Given the description of an element on the screen output the (x, y) to click on. 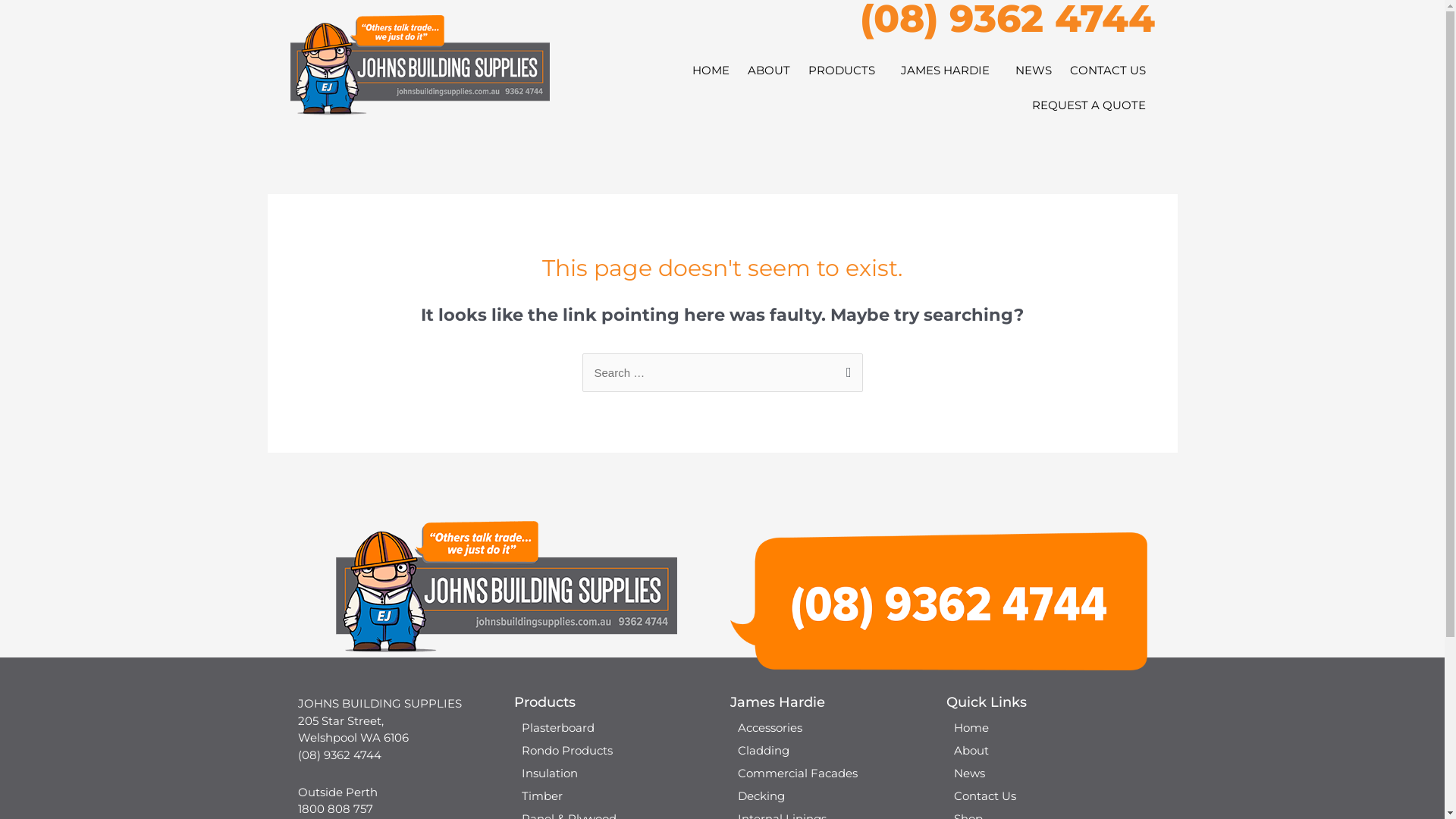
ABOUT Element type: text (768, 70)
Search Element type: text (845, 368)
Decking Element type: text (829, 795)
Cladding Element type: text (829, 750)
Plasterboard Element type: text (614, 727)
(08) 9362 4744 Element type: text (338, 754)
Home Element type: text (1046, 727)
Contact Us Element type: text (1046, 795)
HOME Element type: text (709, 70)
REQUEST A QUOTE Element type: text (1088, 104)
PRODUCTS Element type: text (845, 70)
Commercial Facades Element type: text (829, 773)
Timber Element type: text (614, 795)
1800 808 757 Element type: text (334, 808)
Rondo Products Element type: text (614, 750)
JAMES HARDIE Element type: text (948, 70)
News Element type: text (1046, 773)
About Element type: text (1046, 750)
NEWS Element type: text (1032, 70)
Accessories Element type: text (829, 727)
CONTACT US Element type: text (1107, 70)
Insulation Element type: text (614, 773)
